Given the description of an element on the screen output the (x, y) to click on. 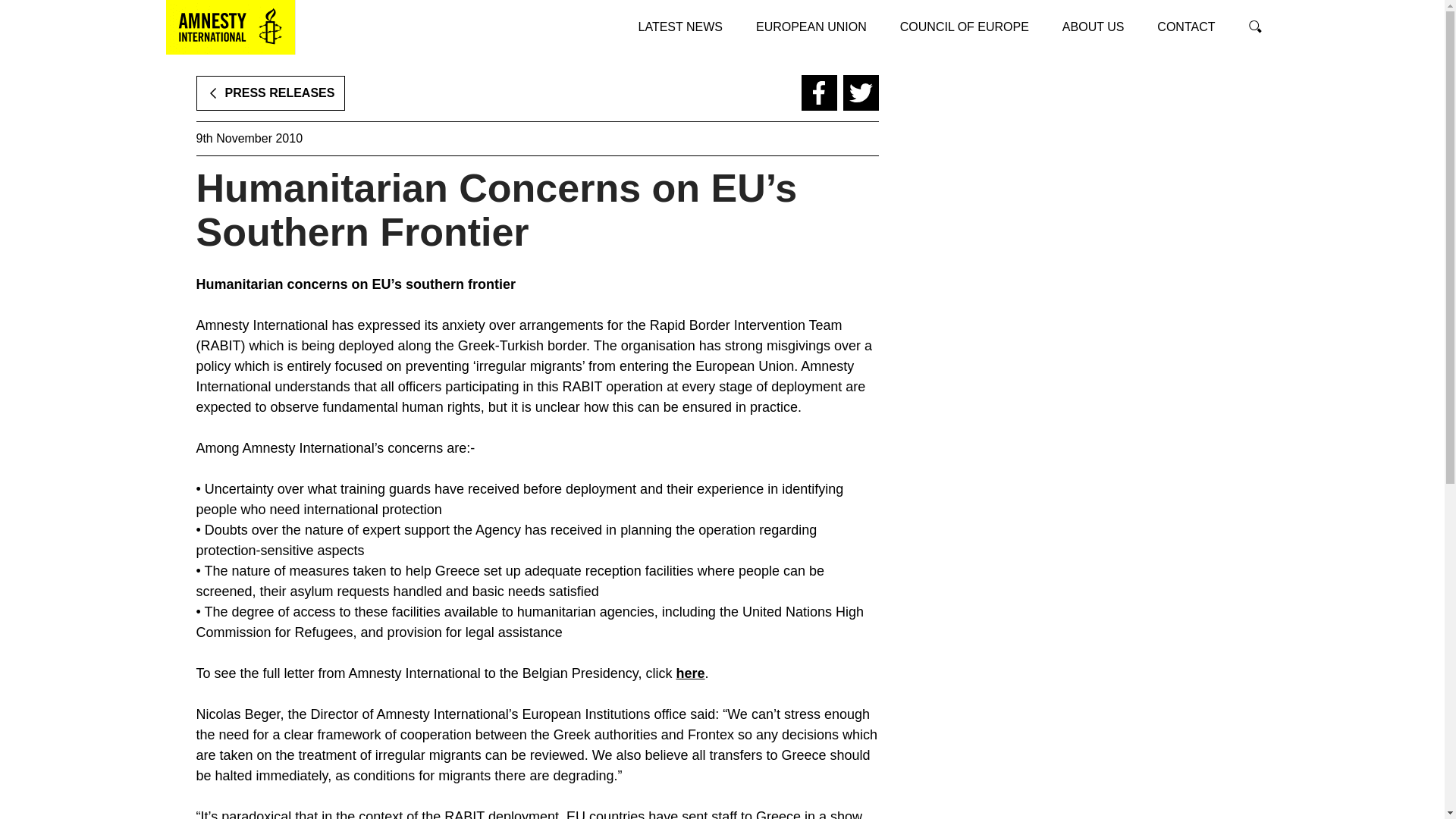
Share on Facebook (817, 92)
ABOUT US (1093, 27)
here (689, 672)
PRESS RELEASES (270, 93)
COUNCIL OF EUROPE (964, 27)
SEARCH (1254, 27)
EUROPEAN UNION (811, 27)
LATEST NEWS (680, 27)
Share on Twitter (861, 92)
CONTACT (1185, 27)
